Given the description of an element on the screen output the (x, y) to click on. 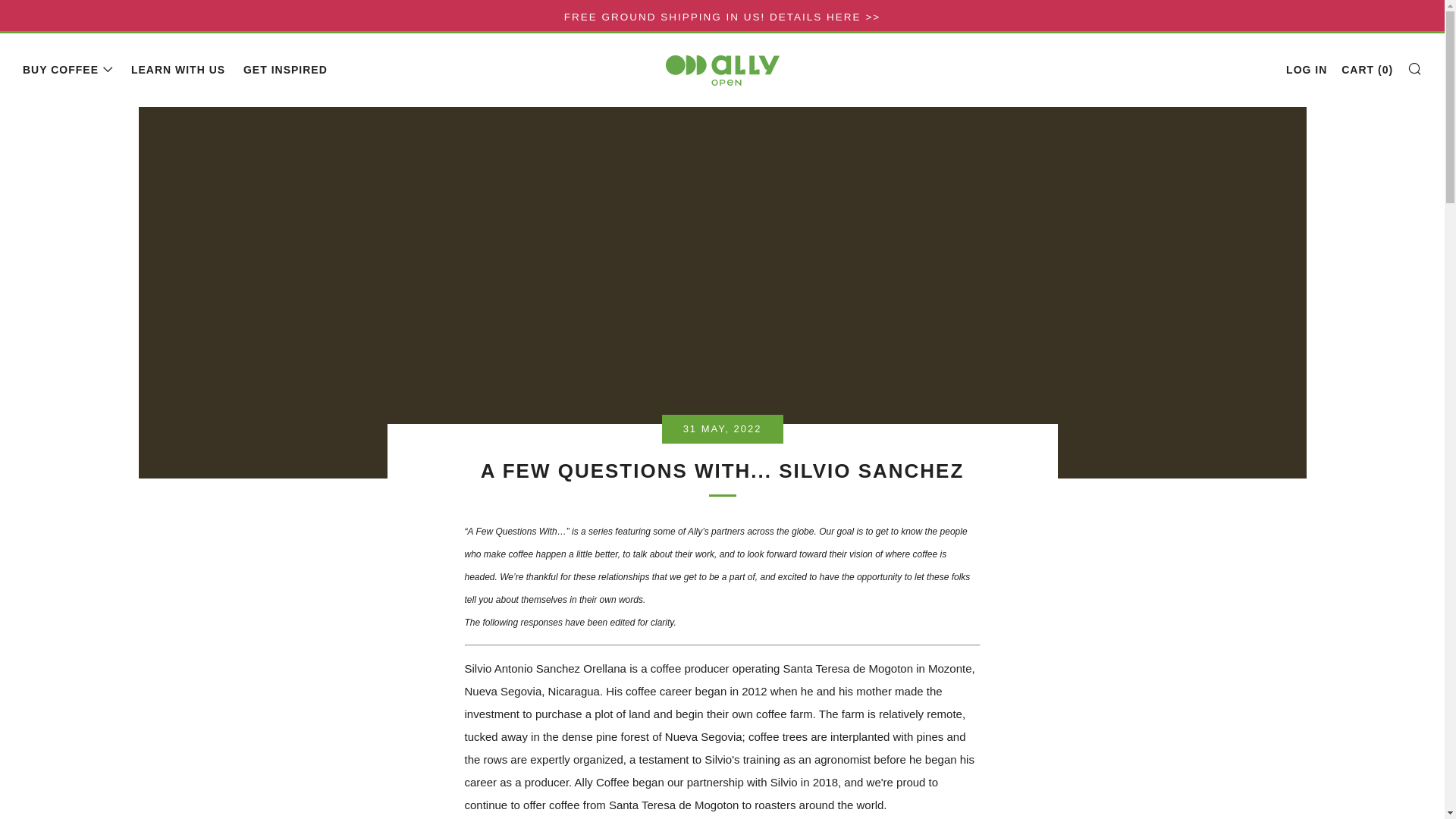
LOG IN (1305, 69)
SEARCH (1414, 68)
LEARN WITH US (178, 69)
GET INSPIRED (285, 69)
BUY COFFEE (68, 69)
